Given the description of an element on the screen output the (x, y) to click on. 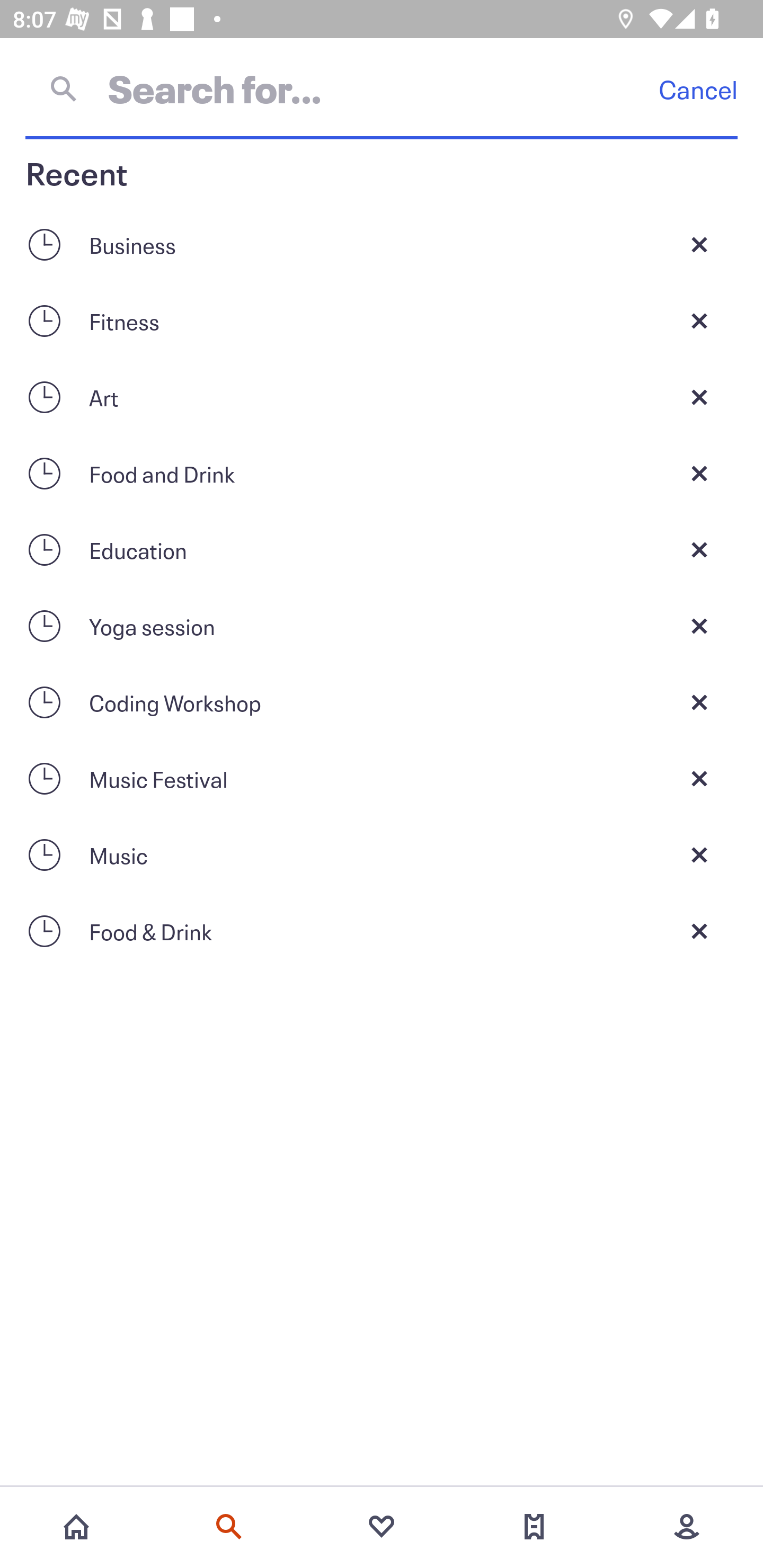
Cancel Search for… (381, 88)
Cancel (697, 89)
Business Close current screen (381, 244)
Close current screen (699, 244)
Fitness Close current screen (381, 320)
Close current screen (699, 320)
Art Close current screen (381, 397)
Close current screen (699, 397)
Food and Drink Close current screen (381, 473)
Close current screen (699, 473)
Education Close current screen (381, 549)
Close current screen (699, 549)
Yoga session Close current screen (381, 626)
Close current screen (699, 626)
Coding Workshop Close current screen (381, 702)
Close current screen (699, 702)
Music Festival Close current screen (381, 778)
Close current screen (699, 778)
Music Close current screen (381, 854)
Close current screen (699, 854)
Food & Drink Close current screen (381, 931)
Close current screen (699, 931)
Home (76, 1526)
Search events (228, 1526)
Favorites (381, 1526)
Tickets (533, 1526)
More (686, 1526)
